Given the description of an element on the screen output the (x, y) to click on. 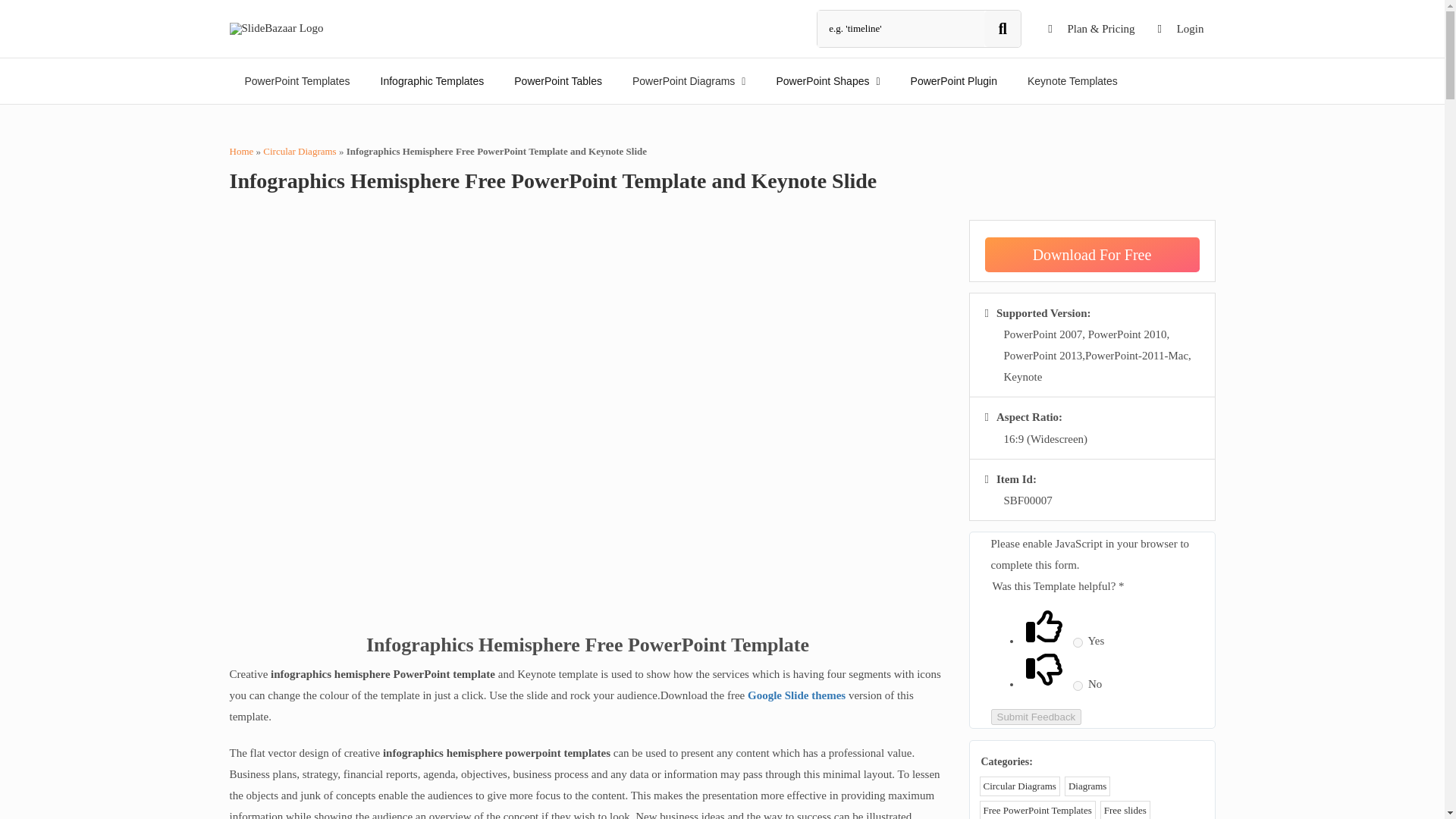
Infographic Templates (432, 81)
Free PowerPoint Templates (1037, 809)
No (1078, 685)
PowerPoint Plugin (953, 81)
PowerPoint Templates (296, 81)
Google Slide themes (796, 695)
Home (240, 151)
Login (1181, 28)
Yes (1078, 642)
Diagrams (1087, 786)
